Given the description of an element on the screen output the (x, y) to click on. 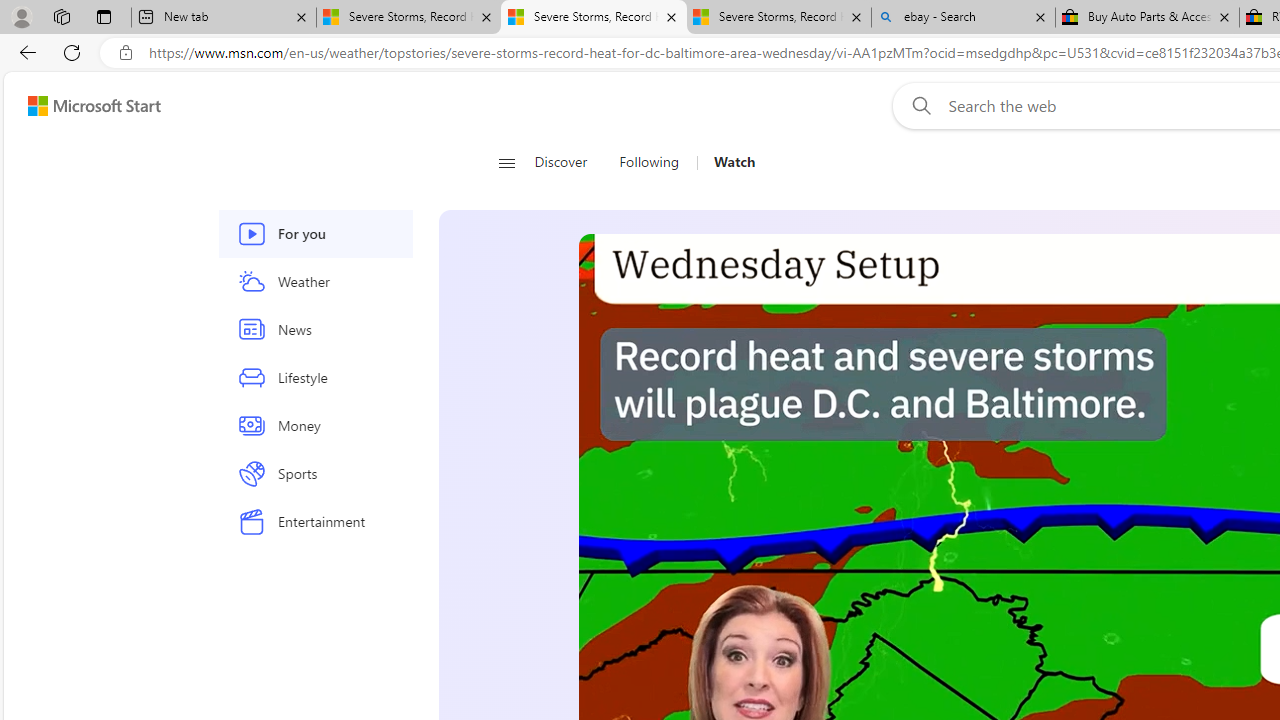
Skip to content (86, 105)
Skip to footer (82, 105)
Class: button-glyph (505, 162)
Open navigation menu (506, 162)
